Given the description of an element on the screen output the (x, y) to click on. 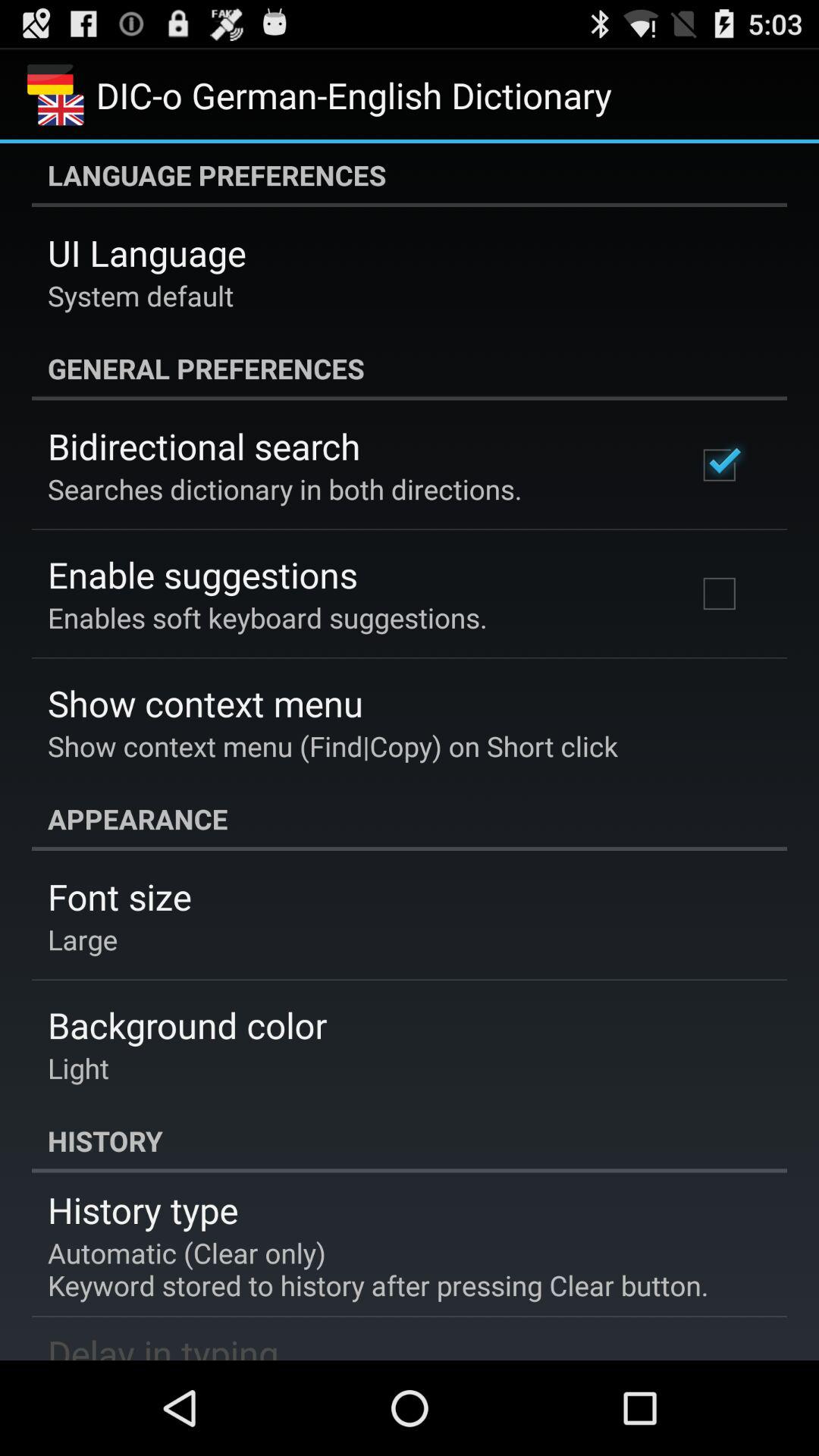
turn on icon above the large app (119, 896)
